Given the description of an element on the screen output the (x, y) to click on. 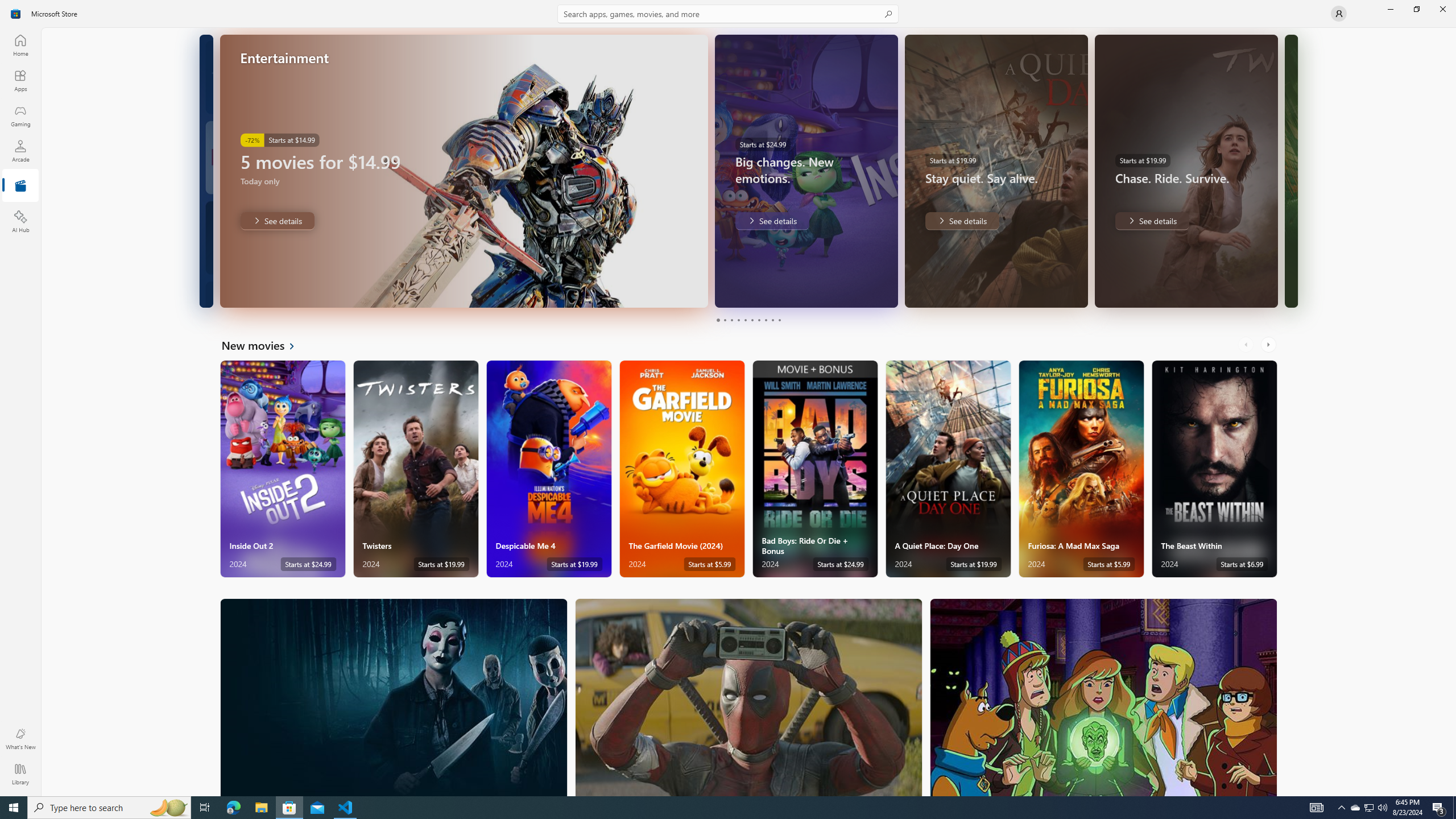
Entertainment (20, 185)
Page 8 (764, 319)
Bad Boys: Ride Or Die + Bonus. Starts at $24.99   (814, 469)
See all  New movies (264, 345)
Page 7 (758, 319)
AutomationID: Image (1290, 170)
Family (1102, 697)
What's New (20, 738)
Apps (20, 80)
Class: Image (15, 13)
Pager (748, 319)
